Given the description of an element on the screen output the (x, y) to click on. 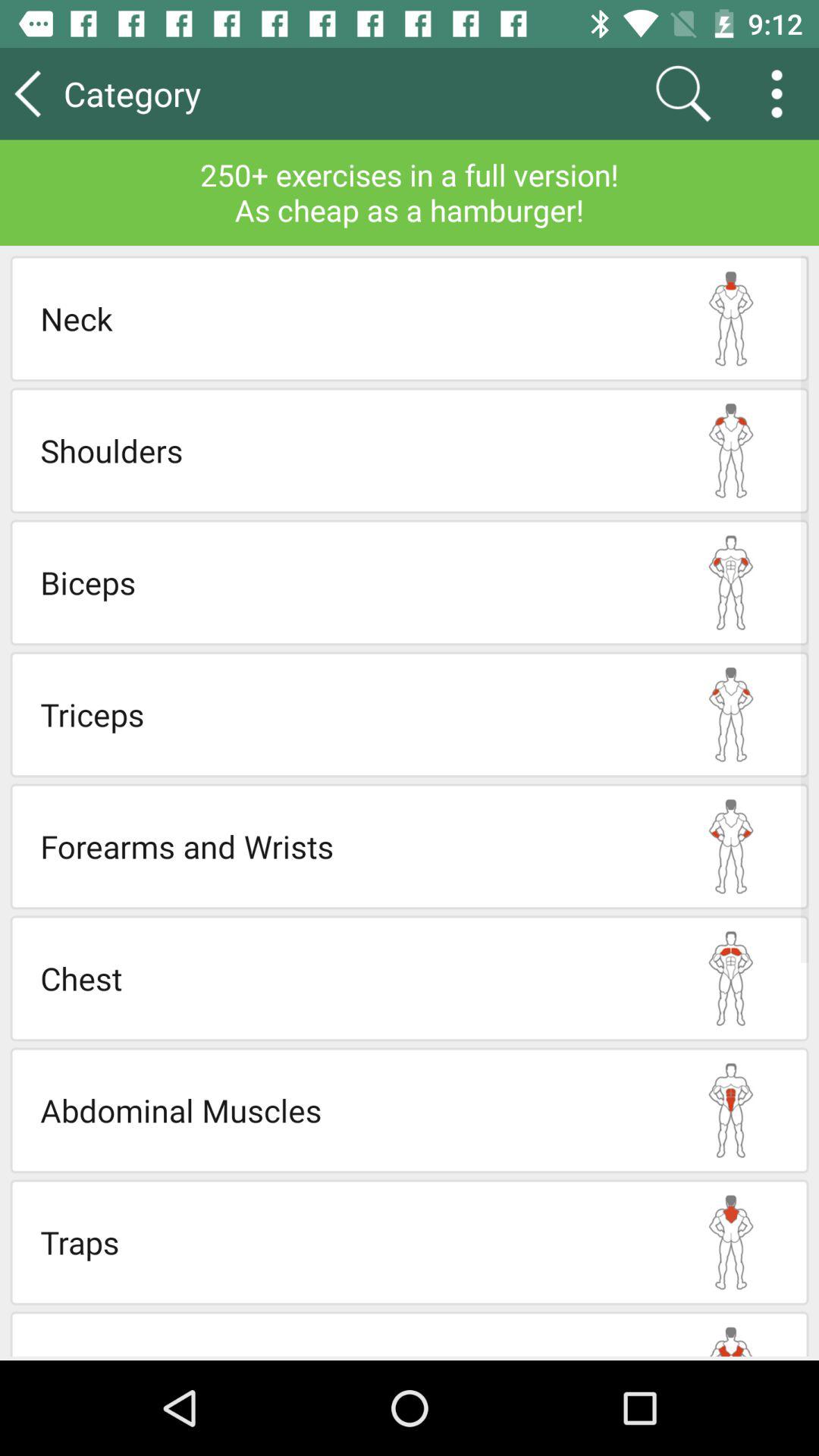
turn off the item at the top left corner (175, 93)
